Given the description of an element on the screen output the (x, y) to click on. 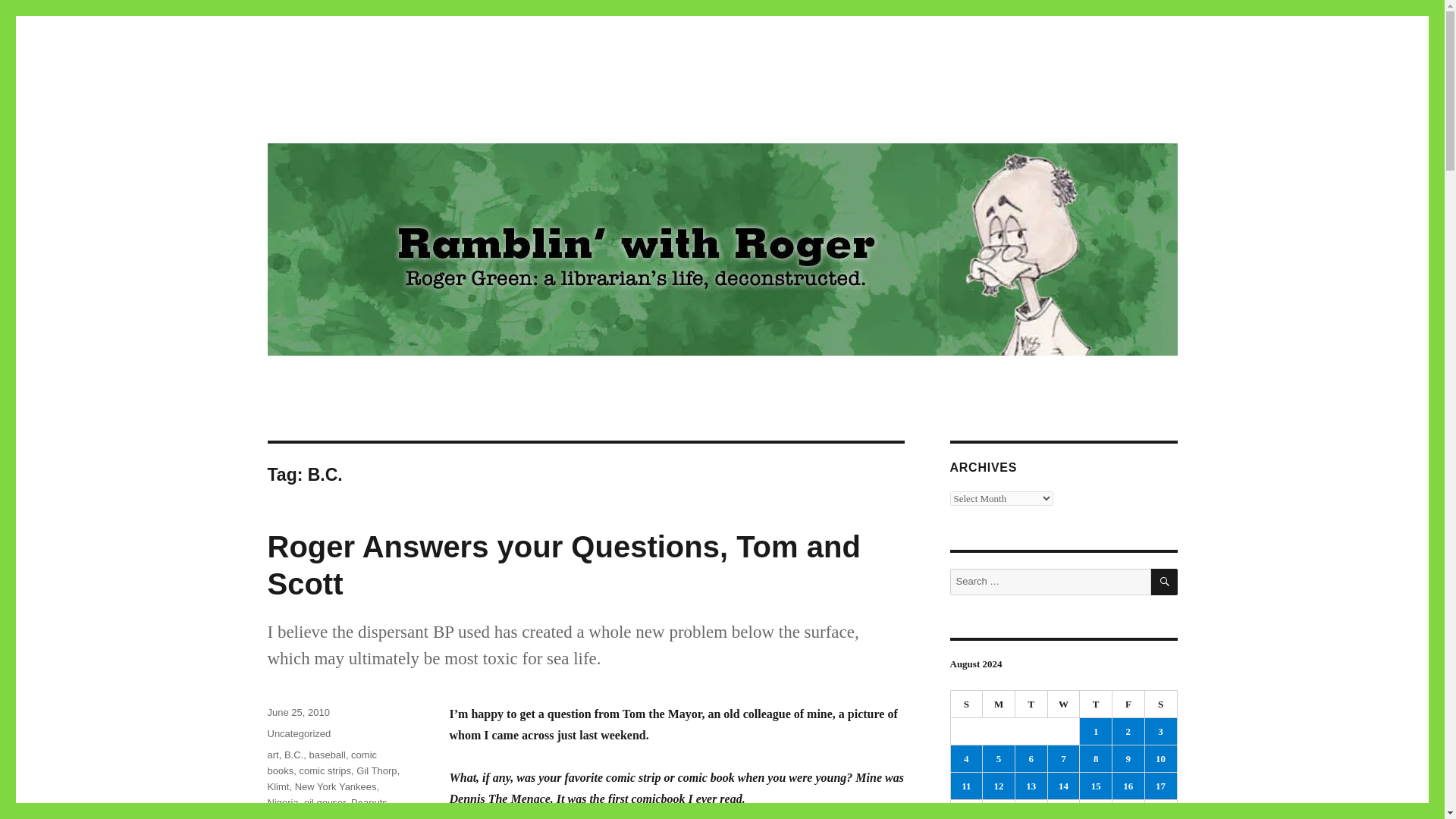
Nigeria (282, 802)
oil geyser (325, 802)
3 (1160, 731)
SEARCH (1164, 581)
Wednesday (1064, 704)
Monday (998, 704)
Thursday (1096, 704)
6 (1030, 758)
Scooter Chronicles (339, 816)
art (272, 754)
